Given the description of an element on the screen output the (x, y) to click on. 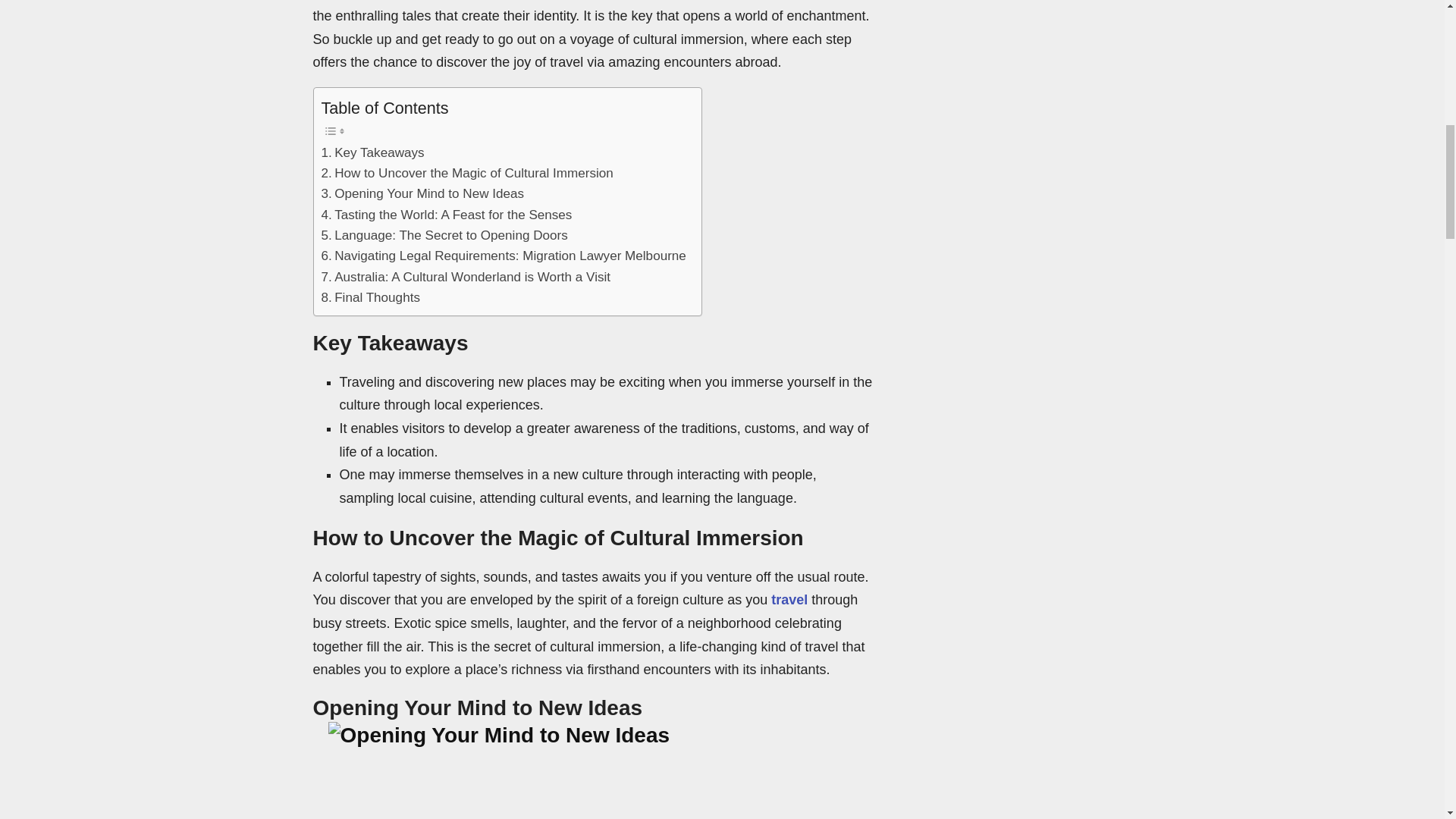
How to Uncover the Magic of Cultural Immersion (466, 172)
How to Uncover the Magic of Cultural Immersion (466, 172)
Final Thoughts (370, 297)
Tasting the World: A Feast for the Senses (446, 214)
Language: The Secret to Opening Doors (444, 235)
Navigating Legal Requirements: Migration Lawyer Melbourne (503, 255)
Key Takeaways (373, 152)
Language: The Secret to Opening Doors (444, 235)
travel (789, 599)
Final Thoughts (370, 297)
